Given the description of an element on the screen output the (x, y) to click on. 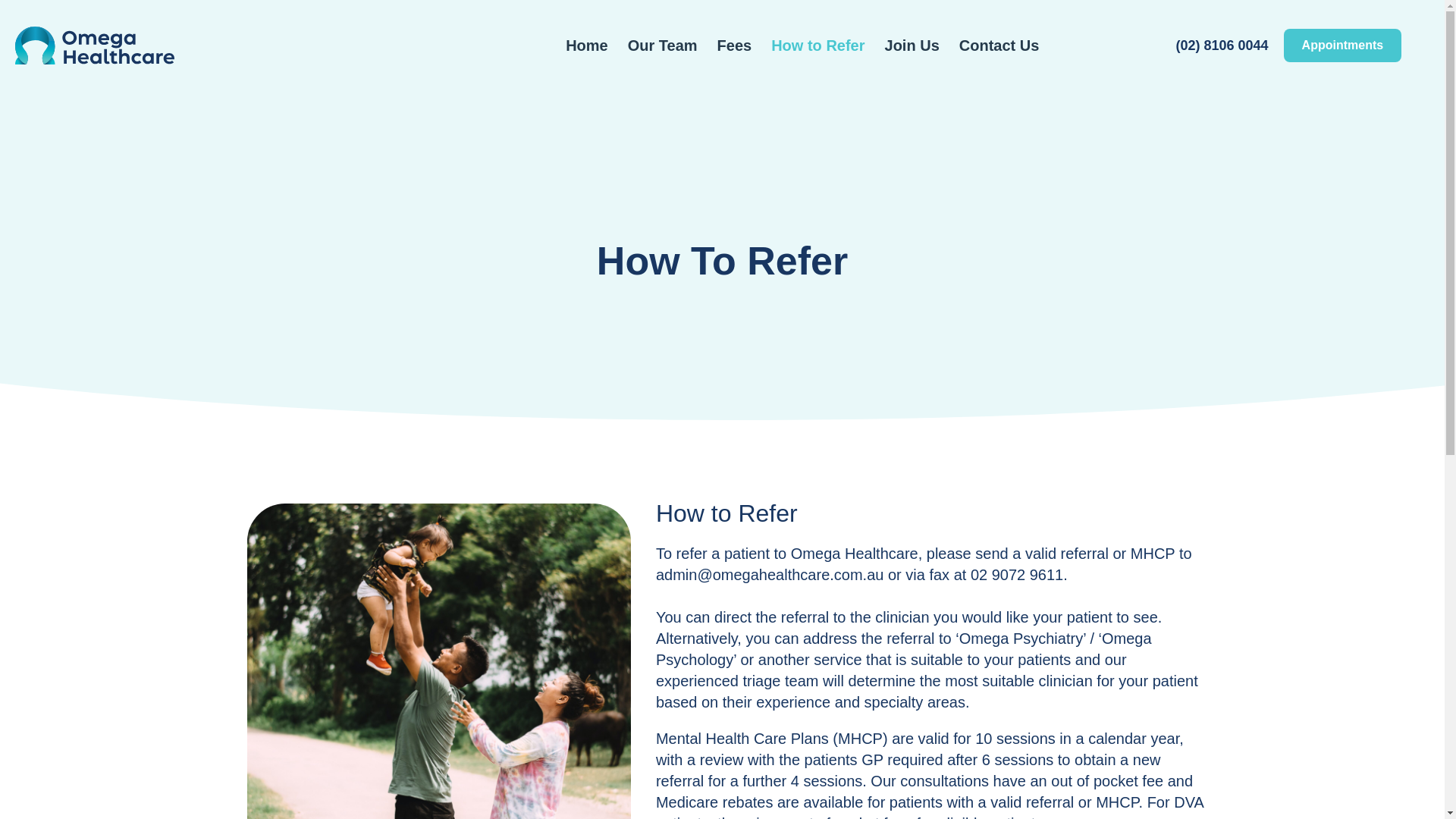
Join Us (912, 45)
How to Refer (817, 45)
Home (587, 45)
Fees (734, 45)
Appointments (1343, 44)
Our Team (662, 45)
How to Refer (726, 513)
Contact Us (999, 45)
